Given the description of an element on the screen output the (x, y) to click on. 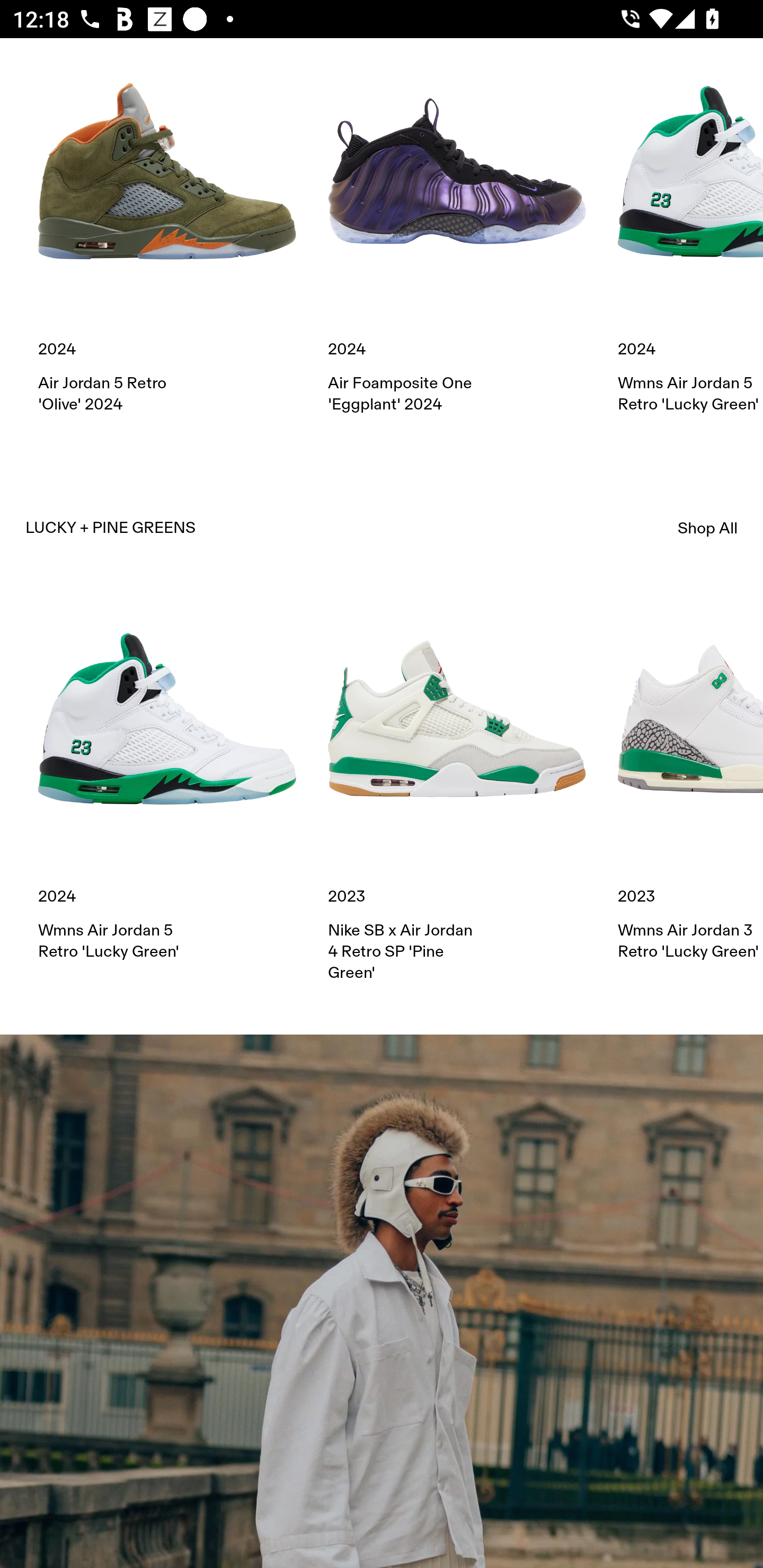
2024 Air Jordan 5 Retro 'Olive' 2024 (167, 228)
2024 Air Foamposite One 'Eggplant' 2024 (456, 228)
2024 Wmns Air Jordan 5 Retro 'Lucky Green' (690, 228)
Shop All (707, 528)
2024 Wmns Air Jordan 5 Retro 'Lucky Green' (167, 775)
2023 Nike SB x Air Jordan 4 Retro SP 'Pine Green' (456, 786)
2023 Wmns Air Jordan 3 Retro 'Lucky Green' (690, 775)
